Given the description of an element on the screen output the (x, y) to click on. 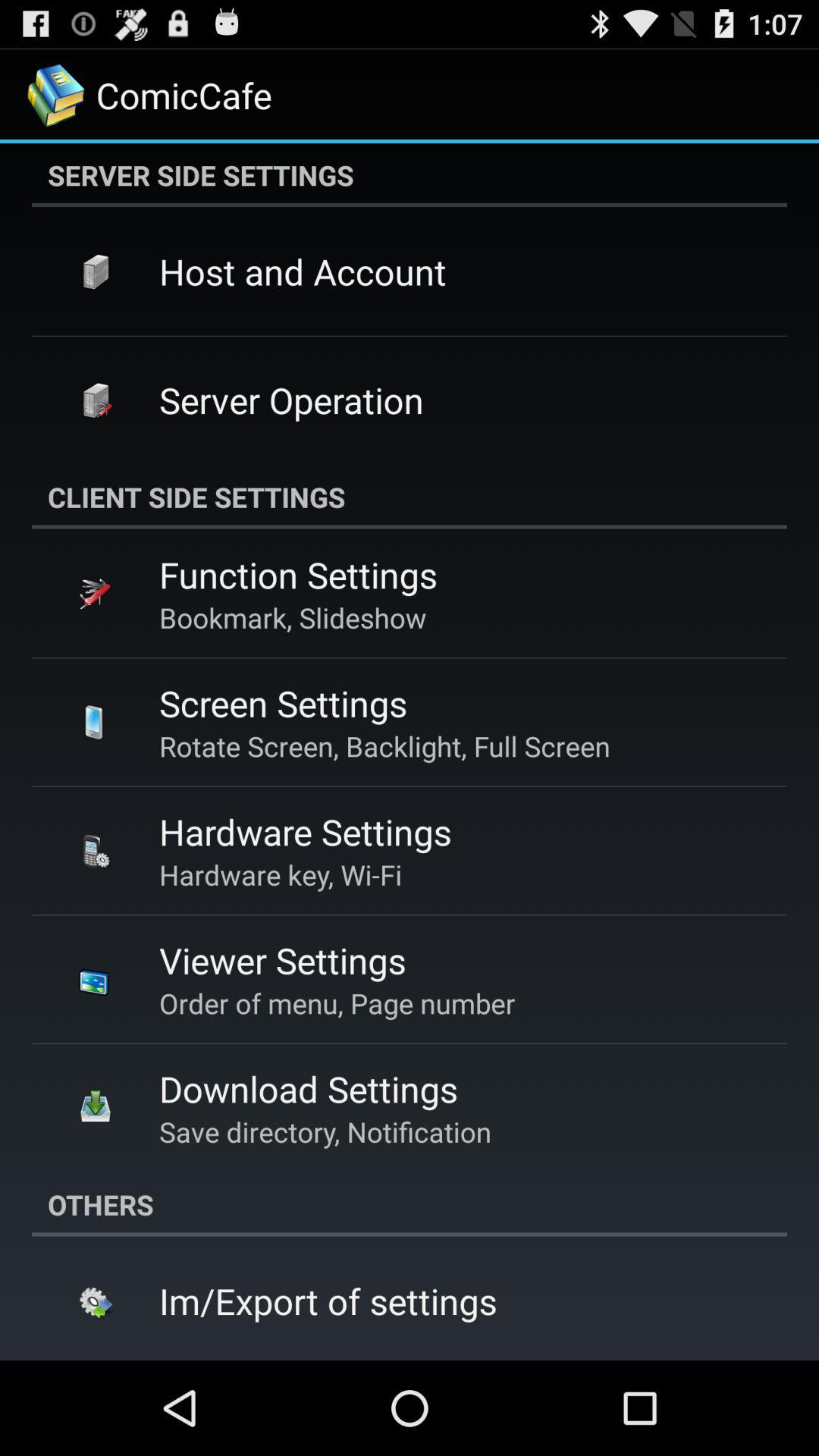
tap icon below the others icon (328, 1300)
